Given the description of an element on the screen output the (x, y) to click on. 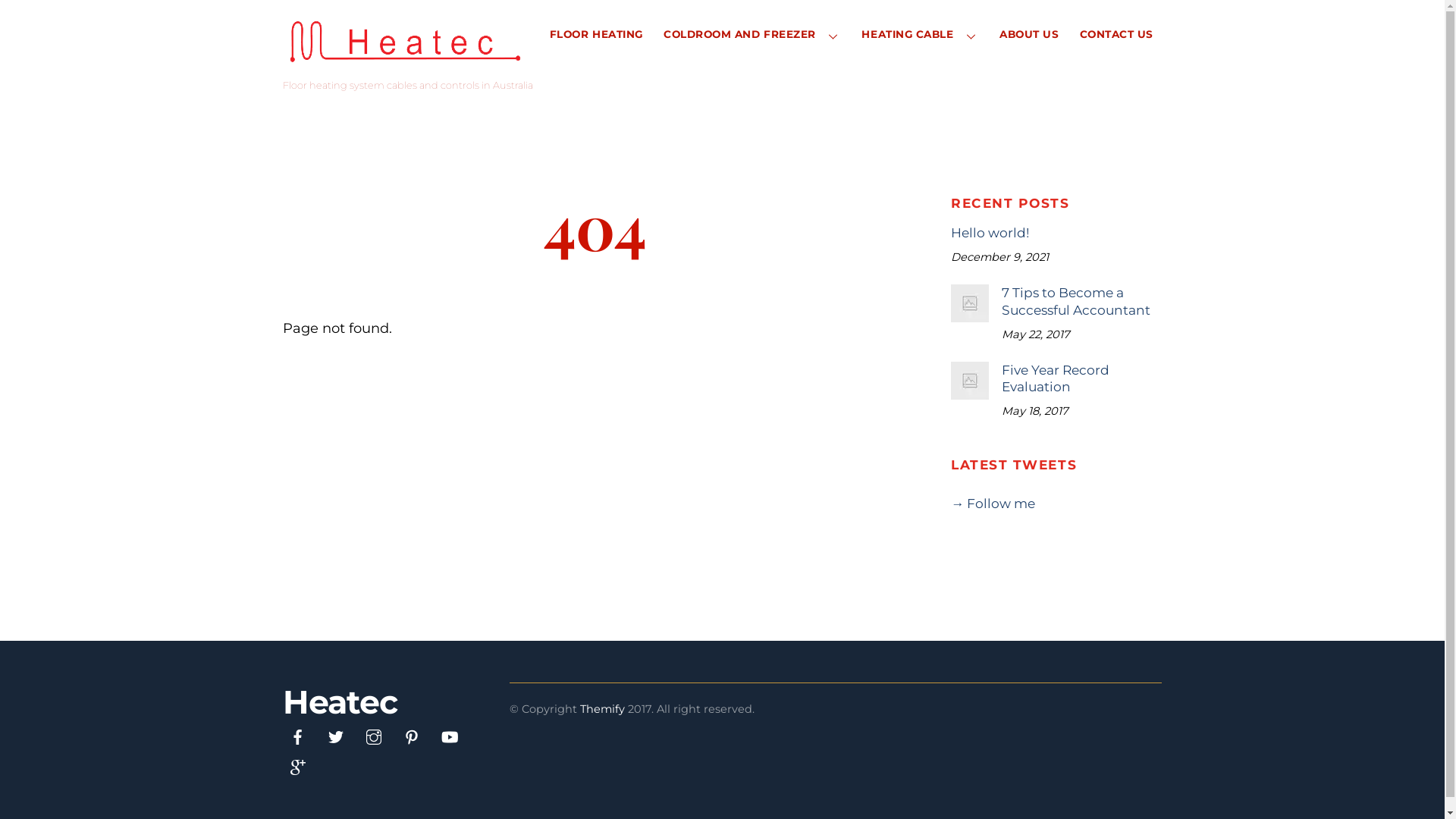
7 Tips to Become a Successful Accountant Element type: text (1055, 300)
Heatec Element type: hover (404, 62)
7 Tips to Become a Successful Accountant Element type: hover (969, 303)
Themify Element type: text (602, 708)
CONTACT US Element type: text (1116, 35)
Five Year Record Evaluation Element type: hover (969, 380)
heatec-logo-trans Element type: hover (404, 42)
Hello world! Element type: text (1055, 232)
ABOUT US Element type: text (1028, 35)
Five Year Record Evaluation Element type: text (1055, 378)
COLDROOM AND FREEZER Element type: text (751, 35)
FLOOR HEATING Element type: text (595, 35)
Heatec Element type: text (339, 701)
HEATING CABLE Element type: text (920, 35)
